Given the description of an element on the screen output the (x, y) to click on. 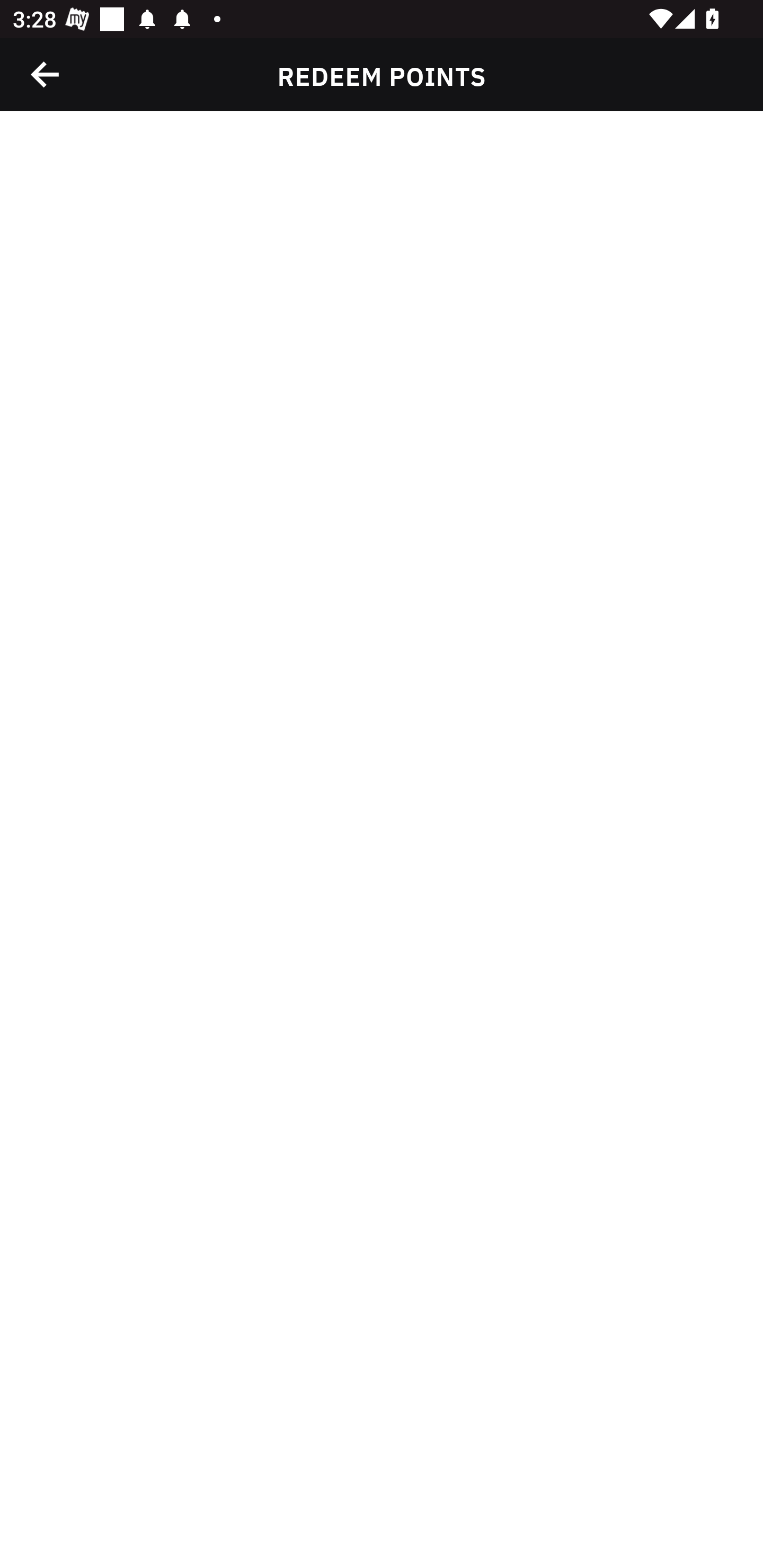
 (46, 74)
